Given the description of an element on the screen output the (x, y) to click on. 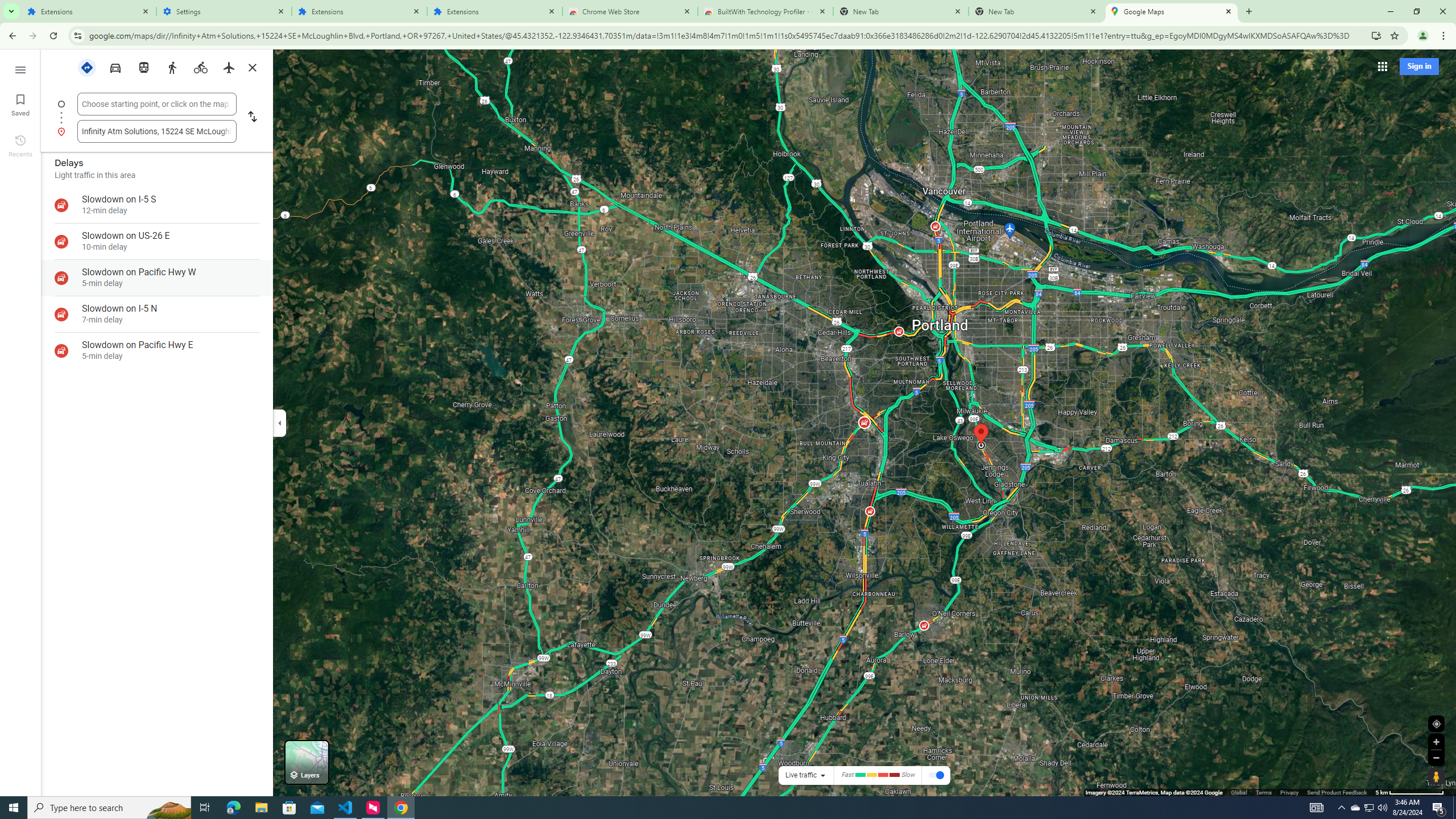
Cycling (200, 67)
Walking (172, 66)
Settings (224, 11)
BuiltWith Technology Profiler - Chrome Web Store (765, 11)
Best travel modes (87, 66)
Driving (115, 67)
Global (1238, 792)
